Given the description of an element on the screen output the (x, y) to click on. 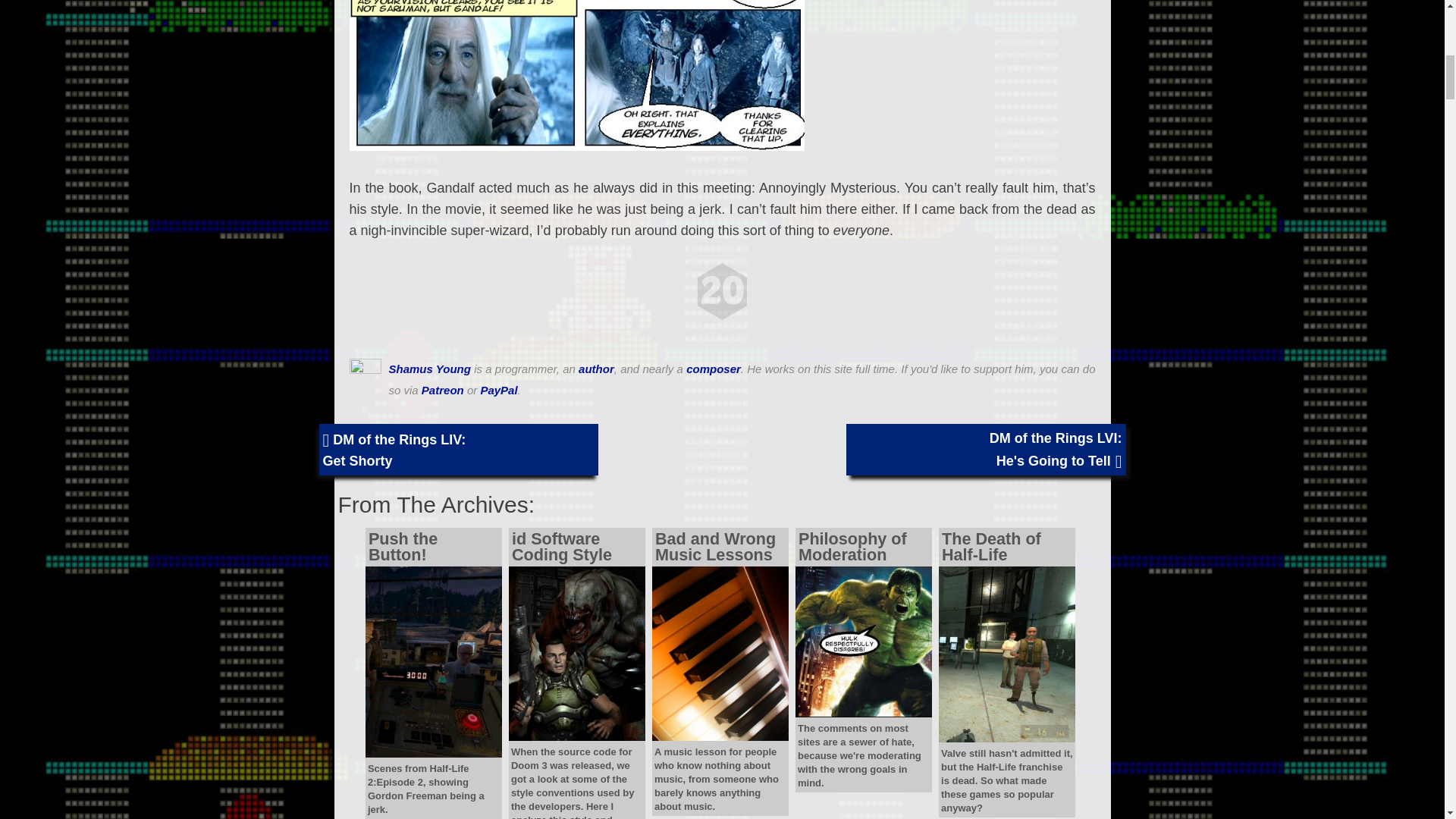
Patreon (443, 390)
composer (713, 368)
PayPal (498, 390)
The Death of Half-Life (1007, 533)
Push the Button! (433, 533)
Shamus Young (429, 368)
Bad and Wrong Music Lessons (720, 533)
Philosophy of Moderation (863, 533)
author (596, 368)
